Given the description of an element on the screen output the (x, y) to click on. 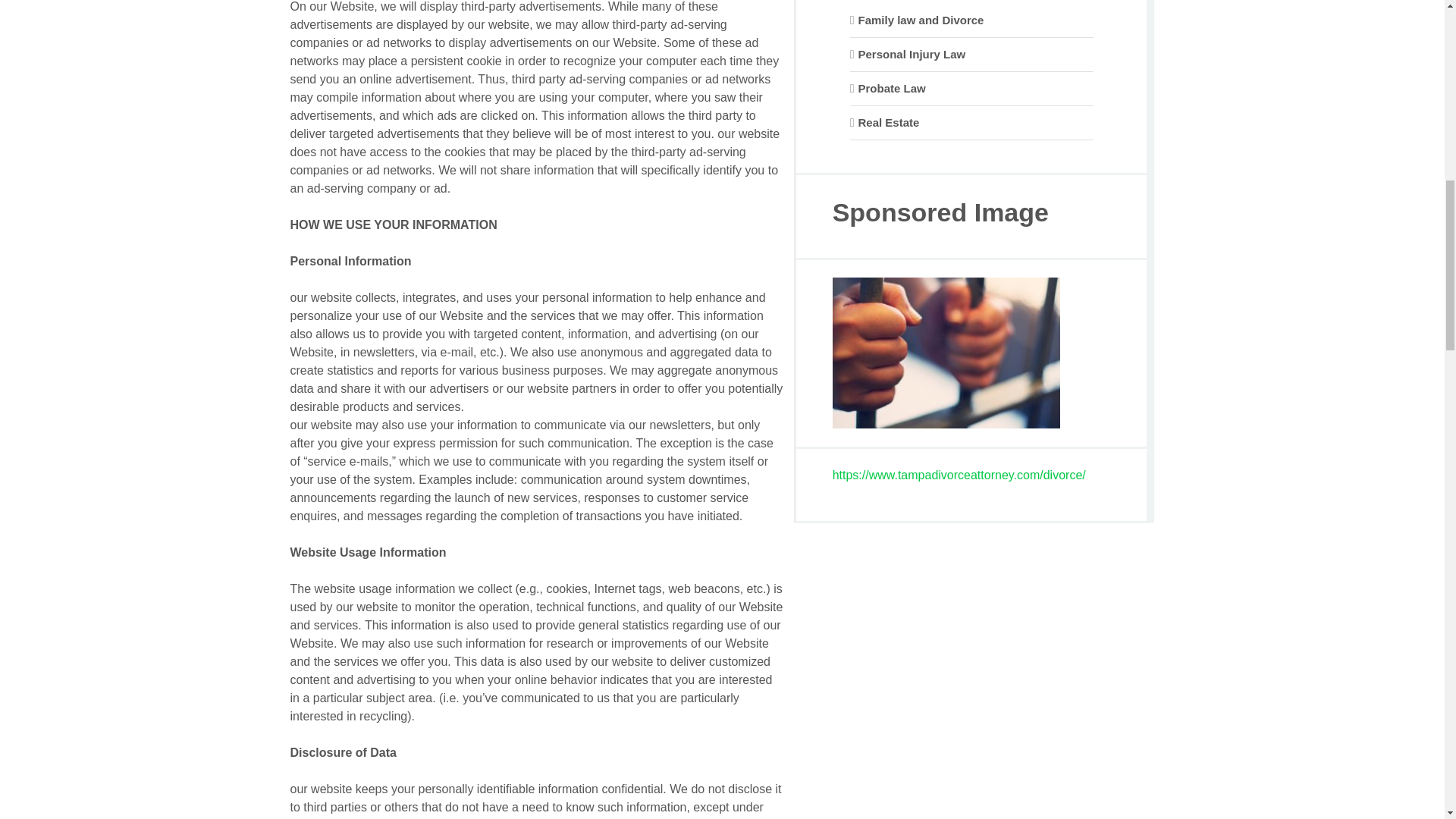
Real Estate (889, 122)
Family law and Divorce (921, 19)
Probate Law (892, 88)
Personal Injury Law (912, 53)
